Given the description of an element on the screen output the (x, y) to click on. 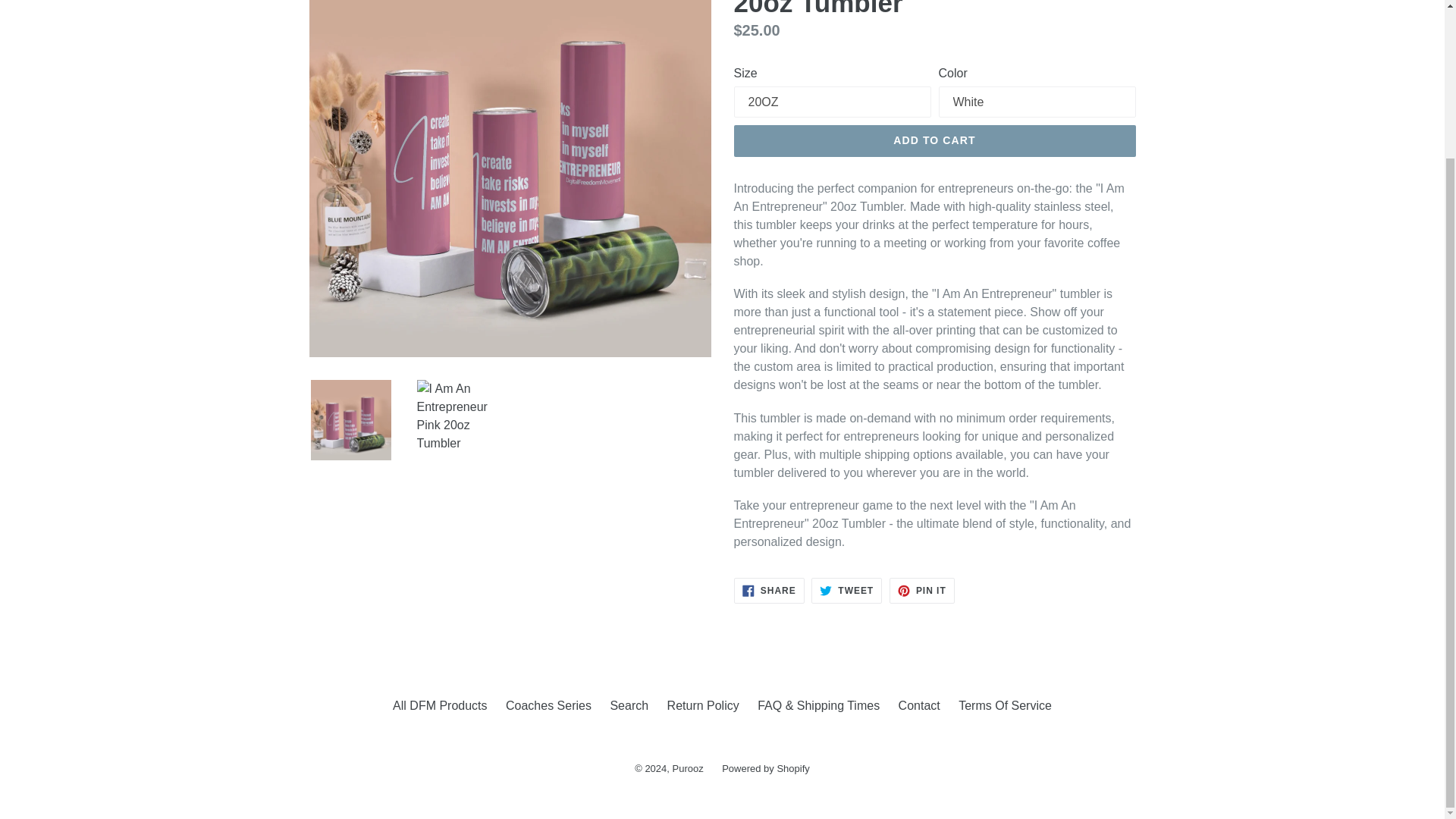
Share on Facebook (769, 590)
Tweet on Twitter (846, 590)
Pin on Pinterest (922, 590)
